Given the description of an element on the screen output the (x, y) to click on. 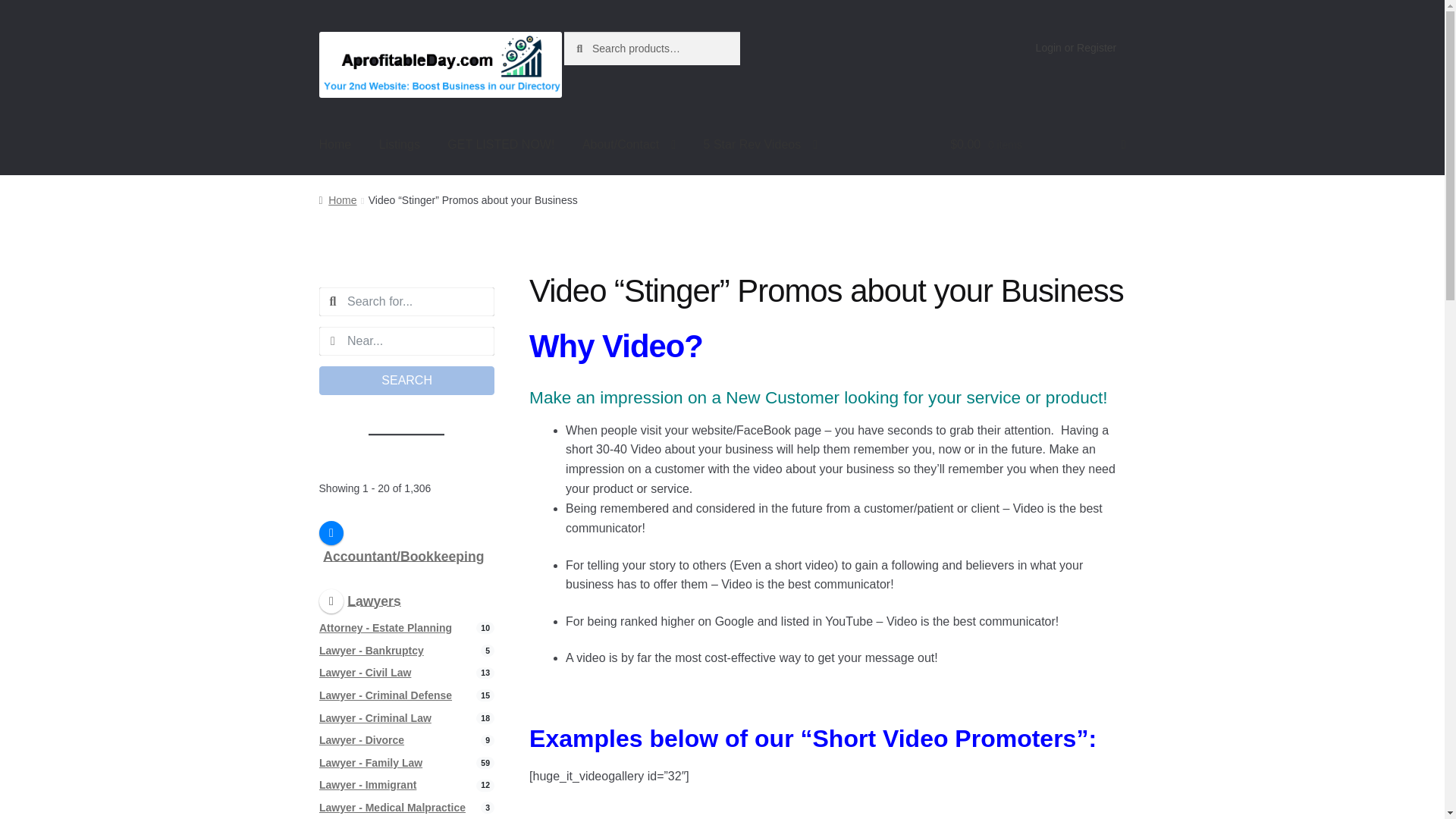
Lawyer - Medical Malpractice (391, 807)
Lawyers (359, 599)
Home (335, 144)
Listings (399, 144)
Lawyer - Civil Law (364, 672)
Login or Register (1075, 47)
5 Star Rev Videos (760, 144)
Lawyer - Criminal Defense (384, 694)
